Given the description of an element on the screen output the (x, y) to click on. 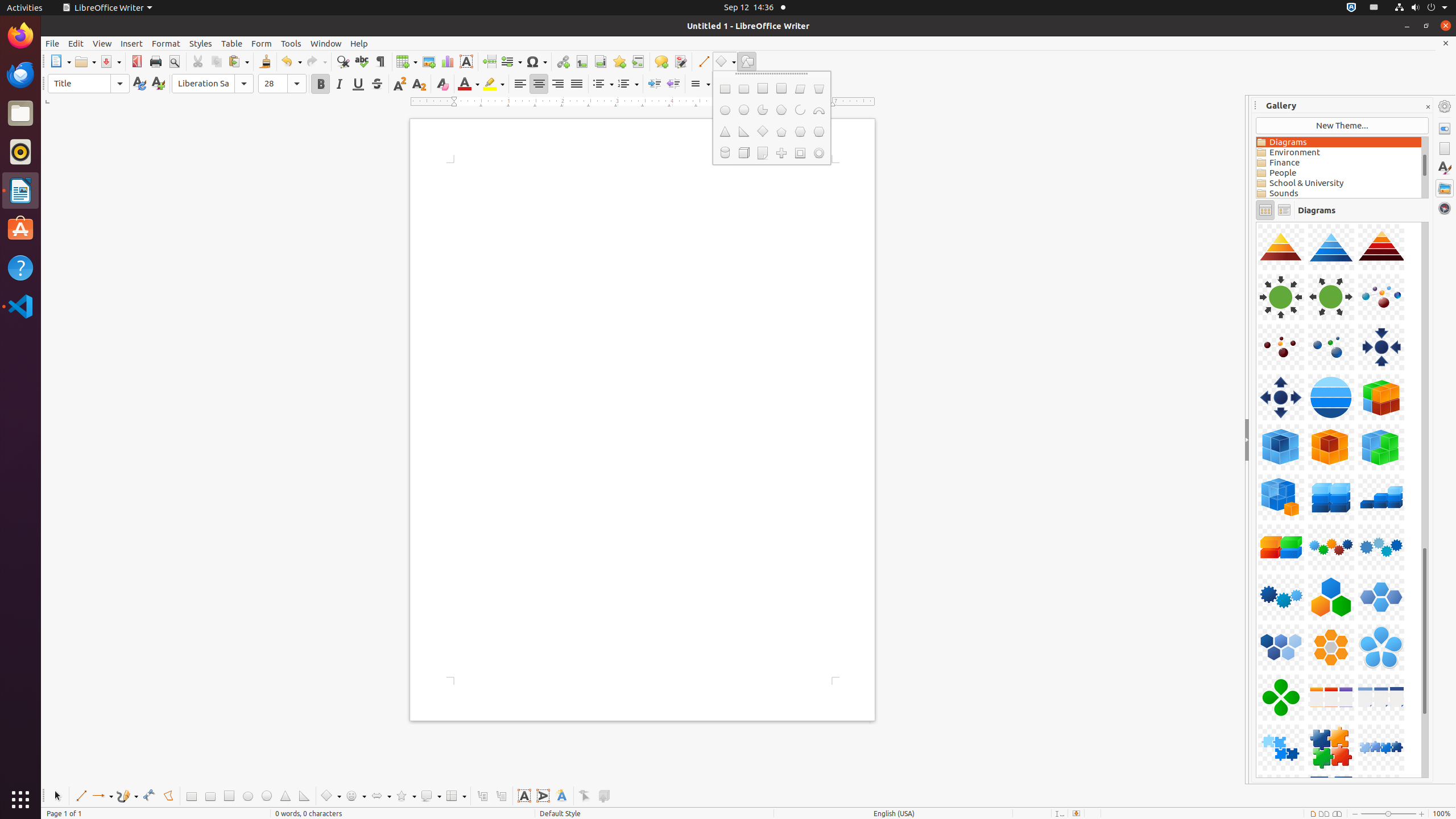
PDF Element type: push-button (136, 61)
Component-Cube05-DarkRed Element type: list-item (1256, 222)
Cylinder Element type: toggle-button (724, 153)
Clone Element type: push-button (264, 61)
Component-Gear05-Orange Element type: list-item (1256, 222)
